Given the description of an element on the screen output the (x, y) to click on. 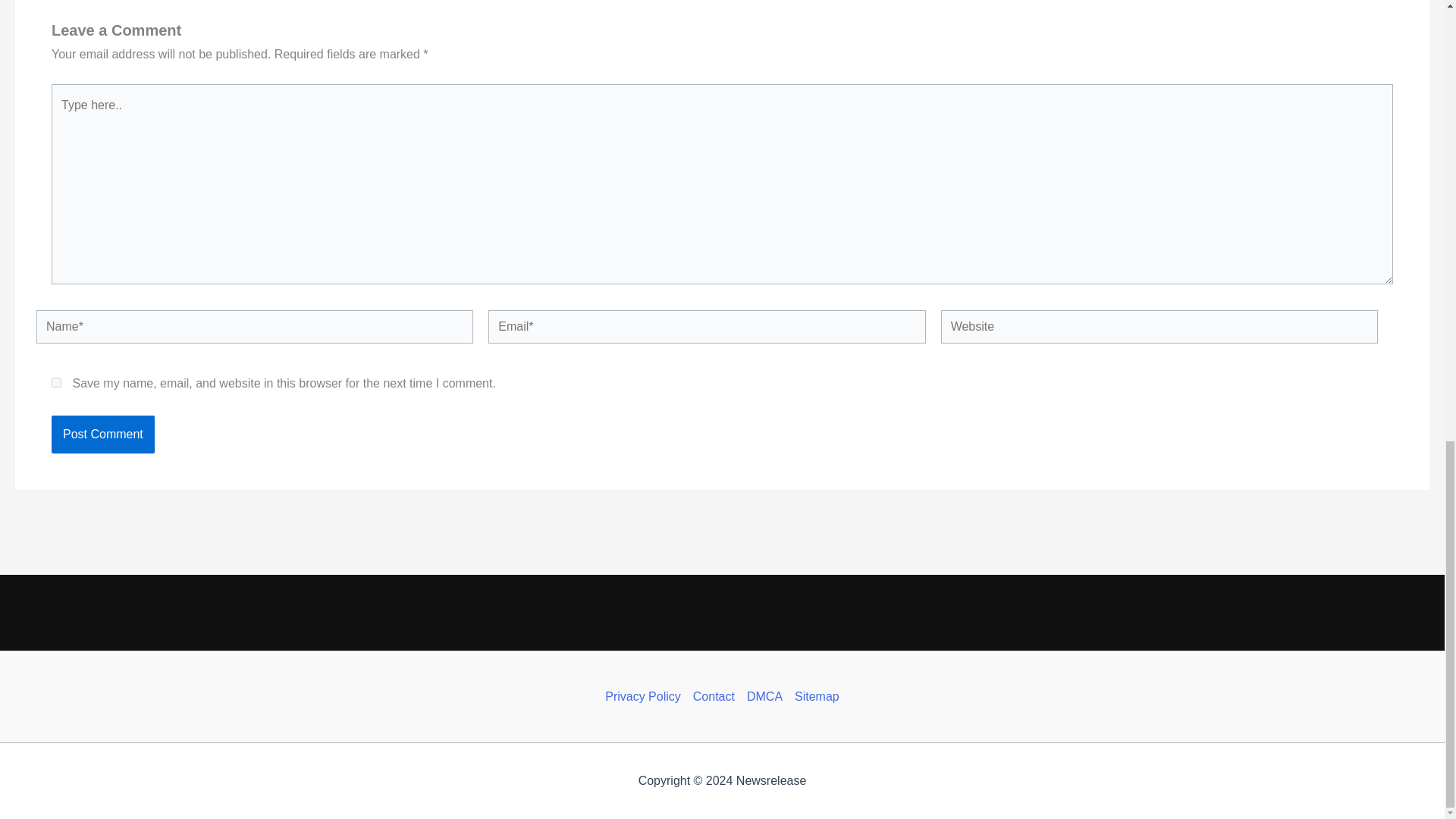
yes (55, 382)
Post Comment (102, 434)
Contact (714, 696)
DMCA (765, 696)
Privacy Policy (646, 696)
Sitemap (814, 696)
Post Comment (102, 434)
